Given the description of an element on the screen output the (x, y) to click on. 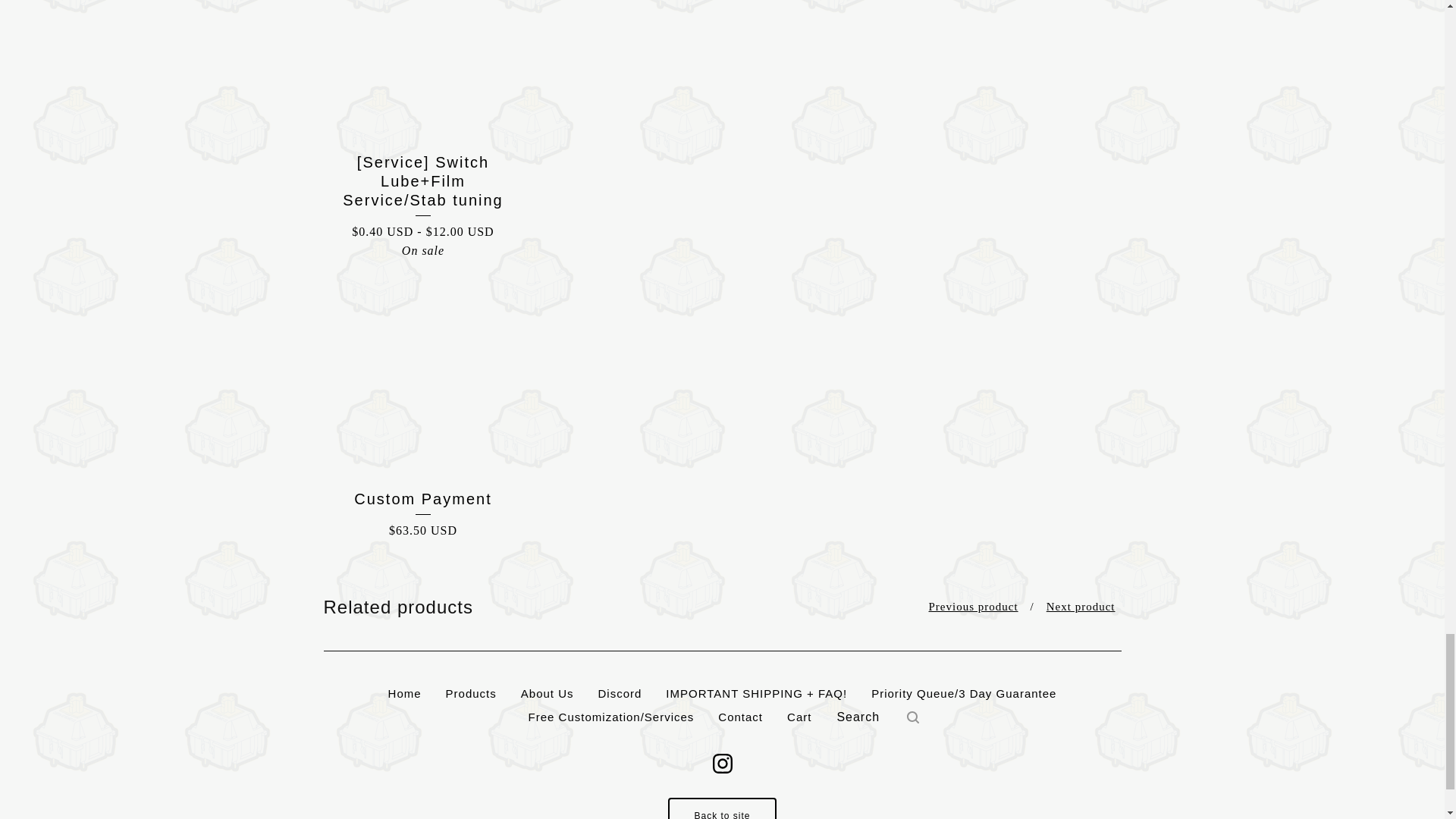
View Previous product (974, 606)
About Us (547, 693)
Discord (619, 693)
Contact (740, 716)
Previous product (974, 606)
View Next product (1081, 606)
Back to site (722, 808)
Next product (1081, 606)
Home (404, 693)
View About Us (547, 693)
